Given the description of an element on the screen output the (x, y) to click on. 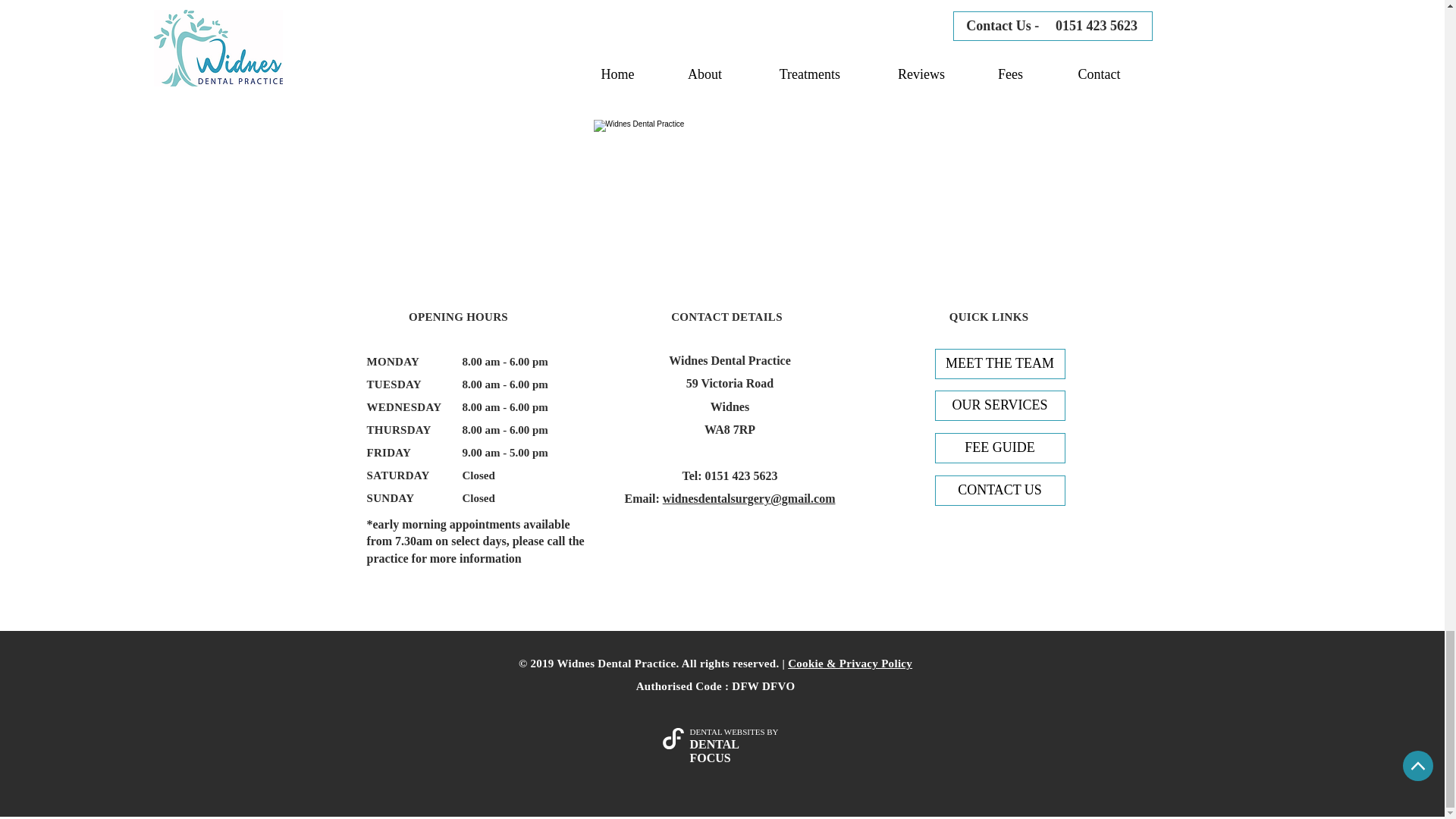
MEET THE TEAM (999, 363)
OUR SERVICES (999, 405)
CONTACT US (999, 490)
0151 423 5623 (740, 475)
FEE GUIDE (999, 448)
